Given the description of an element on the screen output the (x, y) to click on. 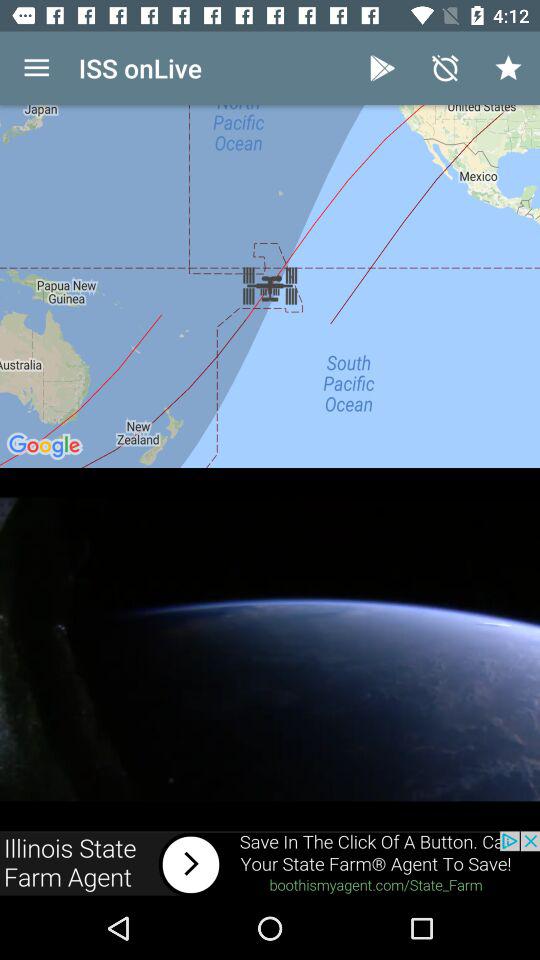
advertisement link to state farm (270, 864)
